Given the description of an element on the screen output the (x, y) to click on. 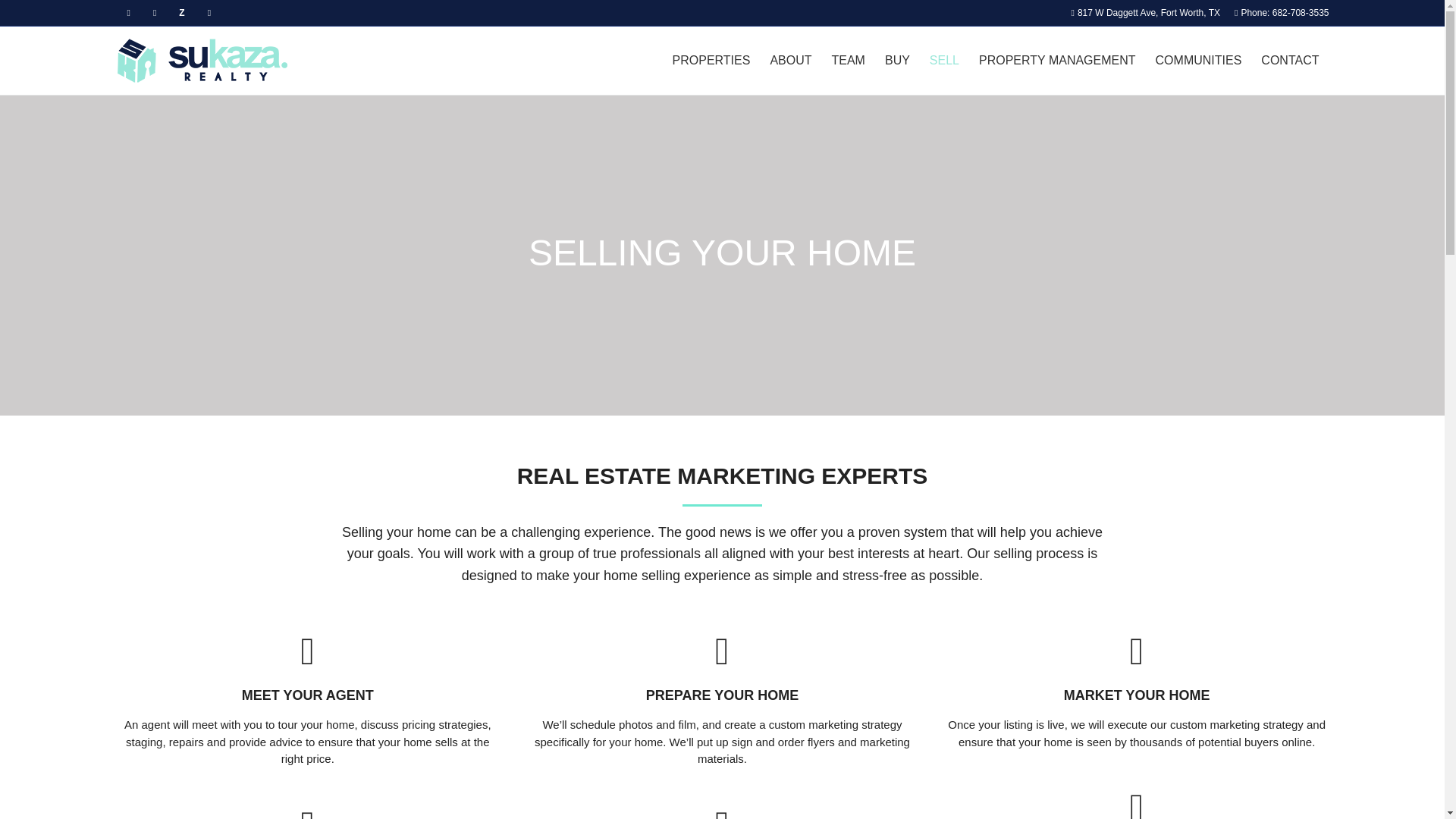
PROPERTIES (711, 60)
TEAM (848, 60)
COMMUNITIES (1198, 60)
Phone: 682-708-3535 (1280, 12)
Z (181, 12)
SELL (944, 60)
ABOUT (790, 60)
CONTACT (1288, 60)
PROPERTY MANAGEMENT (1057, 60)
BUY (897, 60)
